Given the description of an element on the screen output the (x, y) to click on. 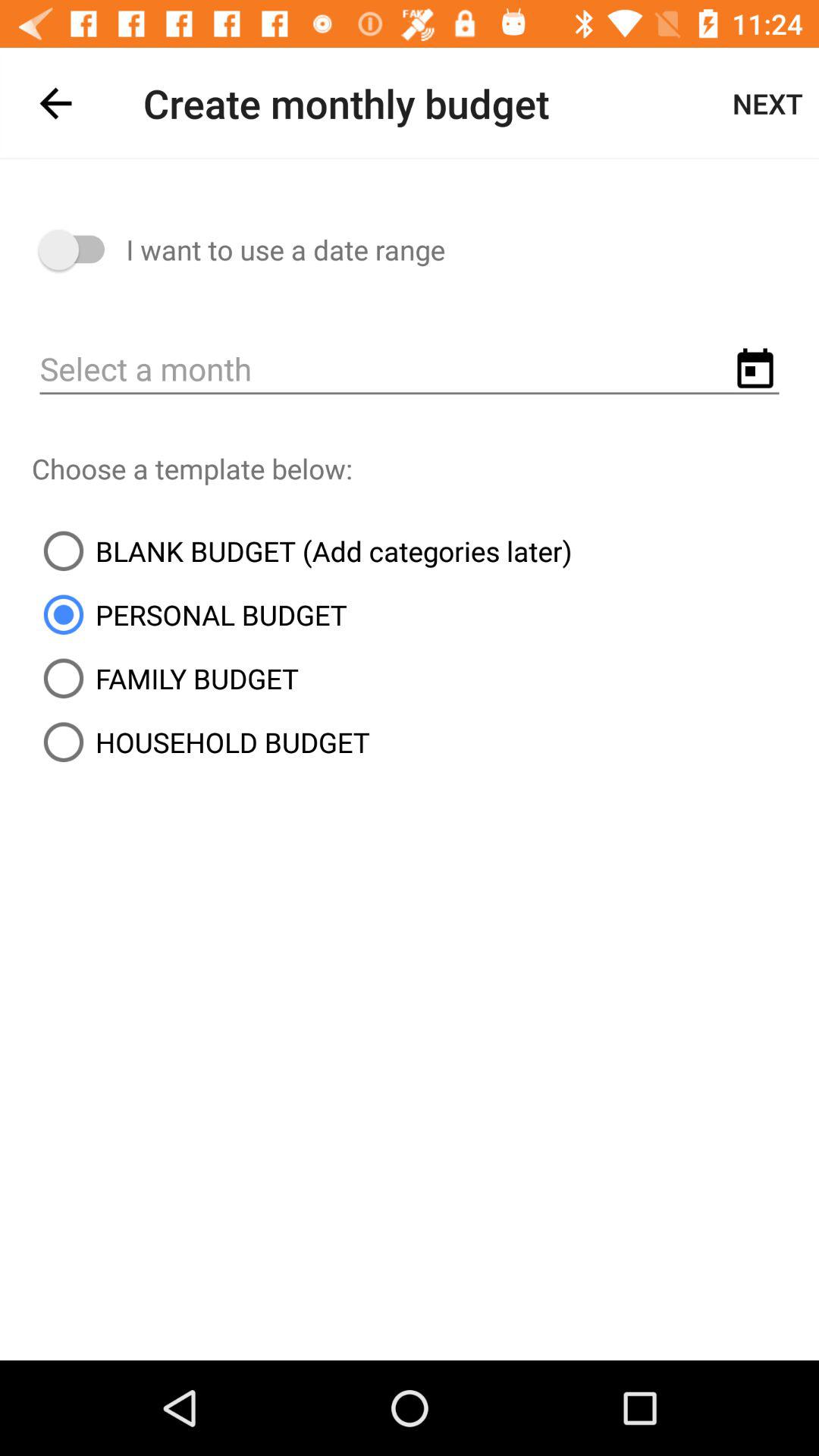
choose icon below the blank budget add icon (188, 614)
